Given the description of an element on the screen output the (x, y) to click on. 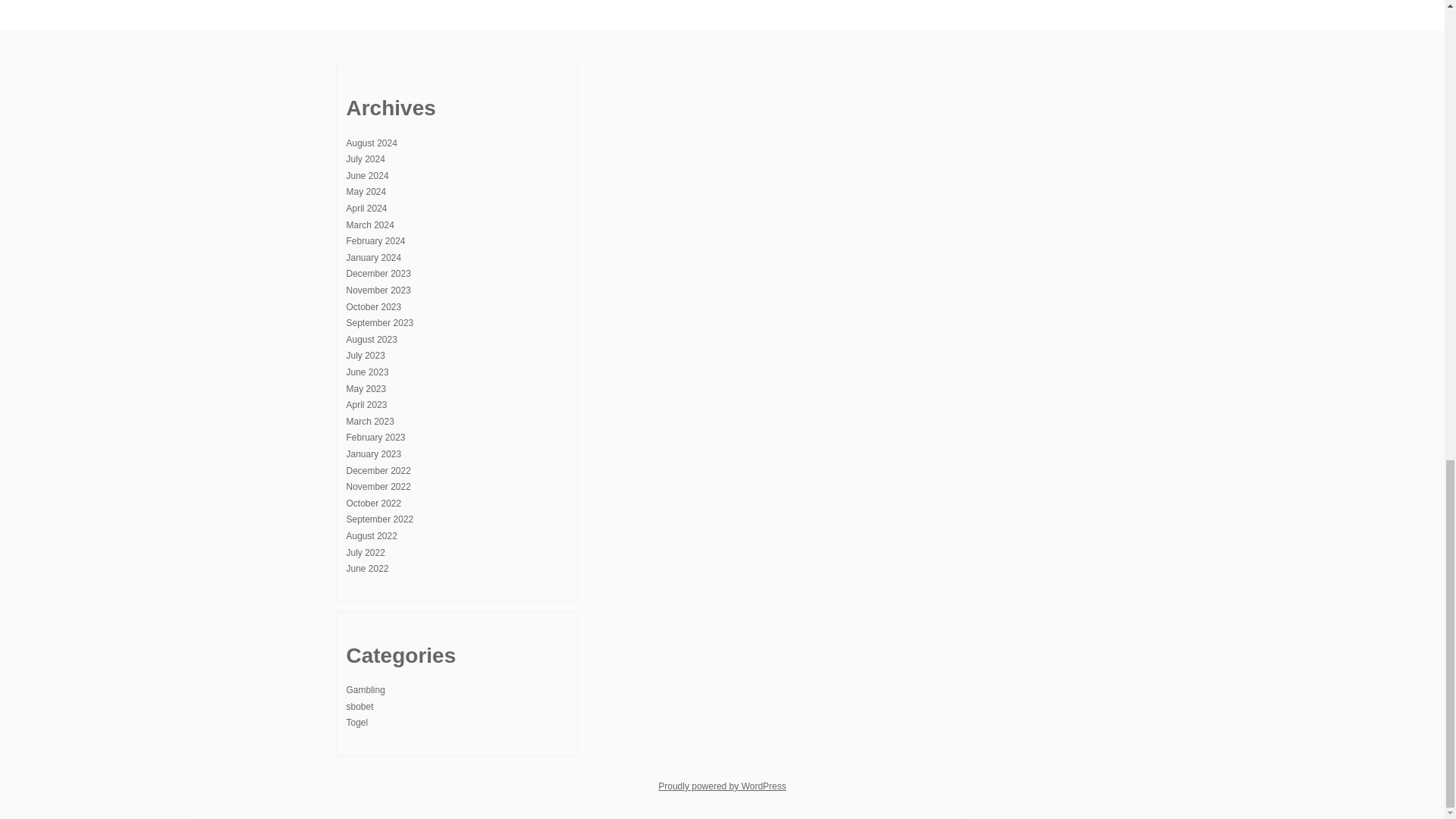
August 2024 (371, 143)
February 2023 (375, 437)
March 2023 (369, 421)
October 2023 (373, 307)
February 2024 (375, 240)
November 2022 (378, 486)
June 2023 (367, 371)
July 2024 (365, 158)
April 2023 (366, 404)
